Given the description of an element on the screen output the (x, y) to click on. 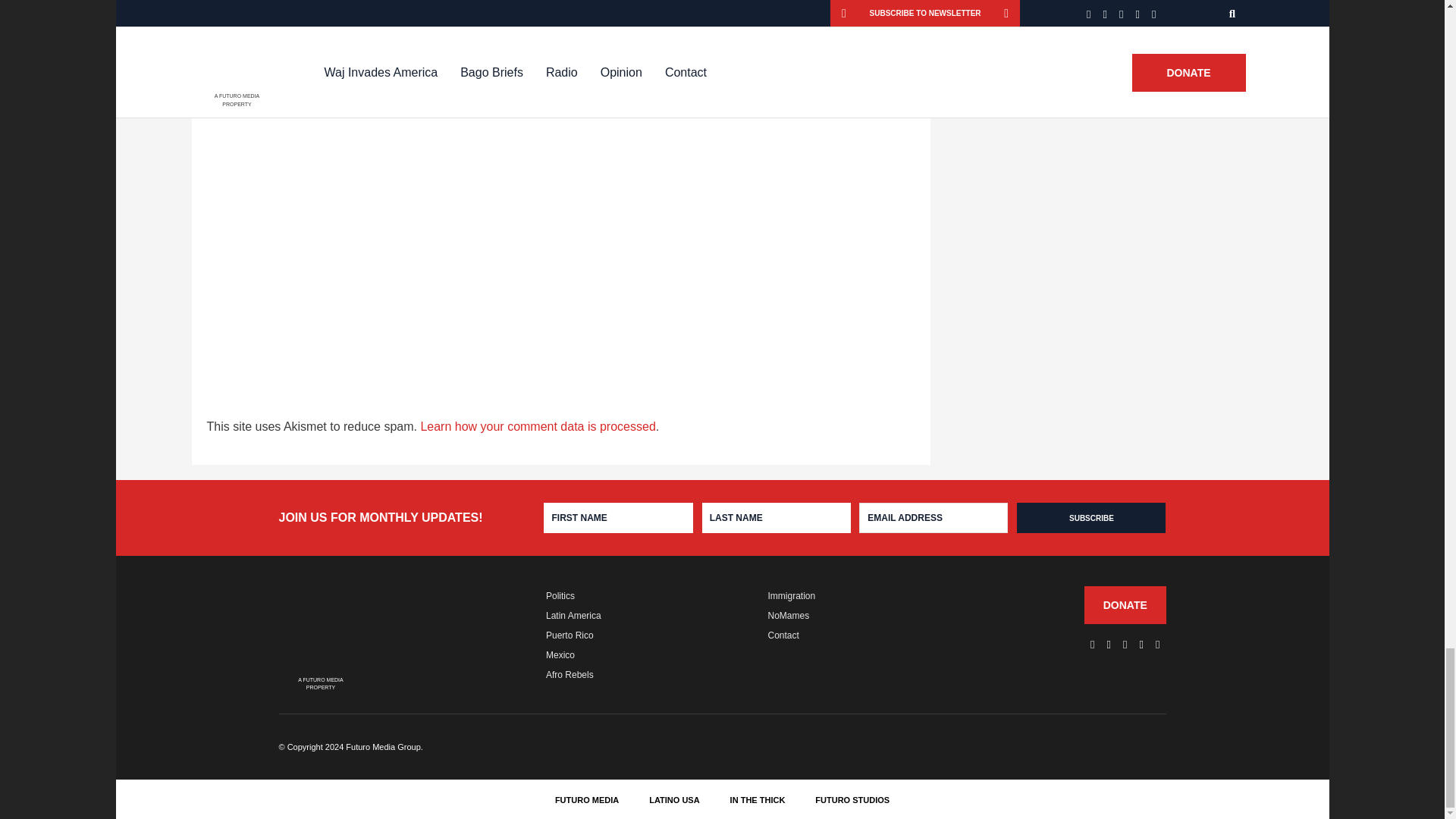
Subscribe (1091, 517)
